Given the description of an element on the screen output the (x, y) to click on. 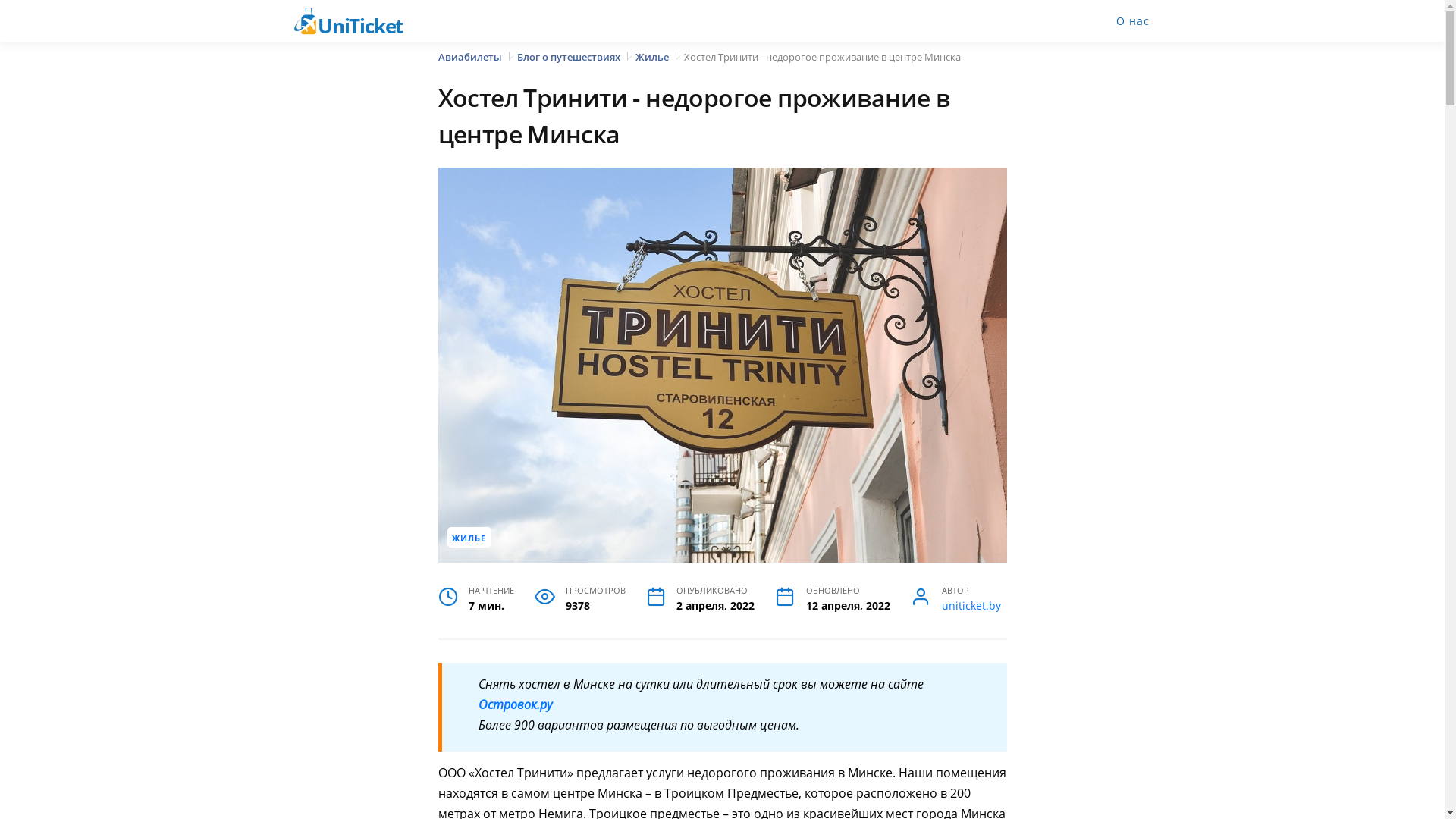
UniTicket Element type: text (357, 20)
uniticket.by Element type: text (971, 605)
